Given the description of an element on the screen output the (x, y) to click on. 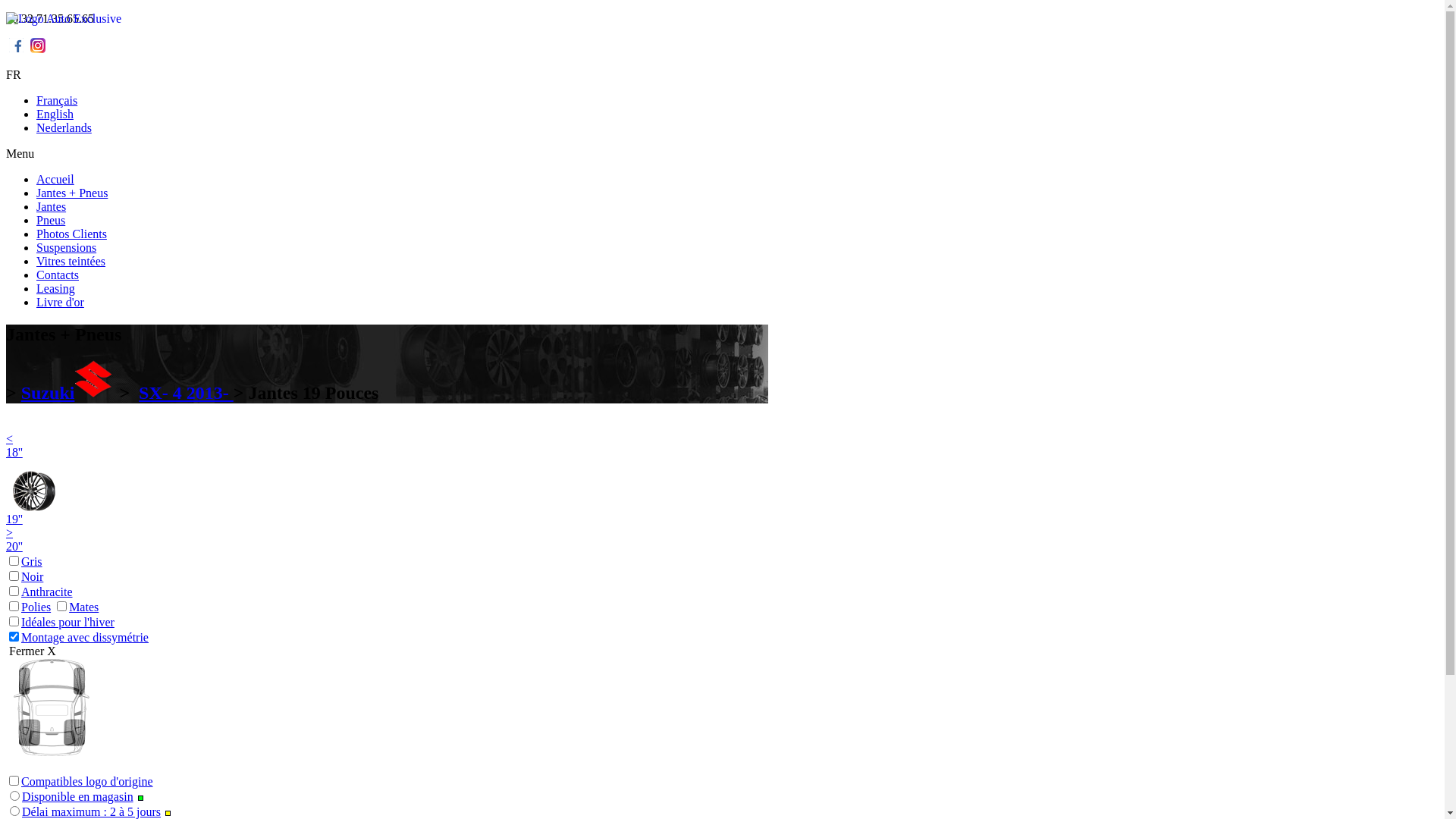
Jantes + Pneus Element type: text (71, 192)
Accueil Element type: text (55, 178)
Compatibles logo d'origine Element type: text (79, 781)
Mates Element type: text (75, 606)
Anthracite Element type: text (39, 591)
SX- 4 2013- Element type: text (185, 392)
Jantes Element type: text (50, 206)
Photos Clients Element type: text (71, 233)
Leasing Element type: text (55, 288)
Noir Element type: text (24, 576)
Polies Element type: text (28, 606)
Gris Element type: text (24, 561)
Livre d'or Element type: text (60, 301)
19'' Element type: text (34, 500)
18'' Element type: text (14, 451)
Nederlands Element type: text (63, 127)
English Element type: text (54, 113)
Disponible en magasin Element type: text (76, 796)
Suzuki Element type: text (68, 392)
> Element type: text (9, 532)
20'' Element type: text (14, 545)
< Element type: text (9, 438)
Pneus Element type: text (50, 219)
Contacts Element type: text (57, 274)
Menu Element type: text (722, 153)
Suspensions Element type: text (66, 247)
